Given the description of an element on the screen output the (x, y) to click on. 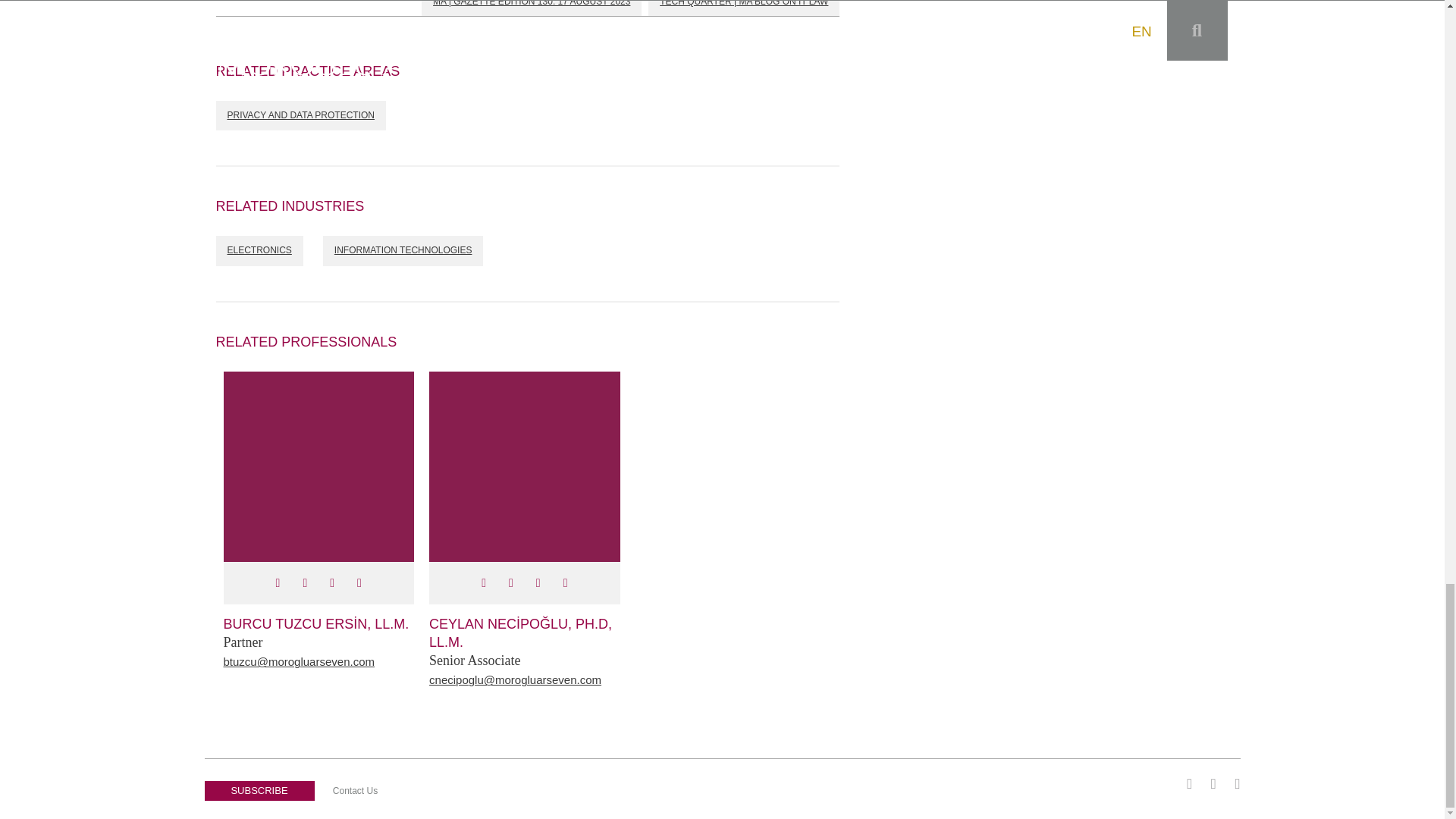
PRIVACY AND DATA PROTECTION (300, 115)
INFORMATION TECHNOLOGIES (403, 250)
ELECTRONICS (258, 250)
